Given the description of an element on the screen output the (x, y) to click on. 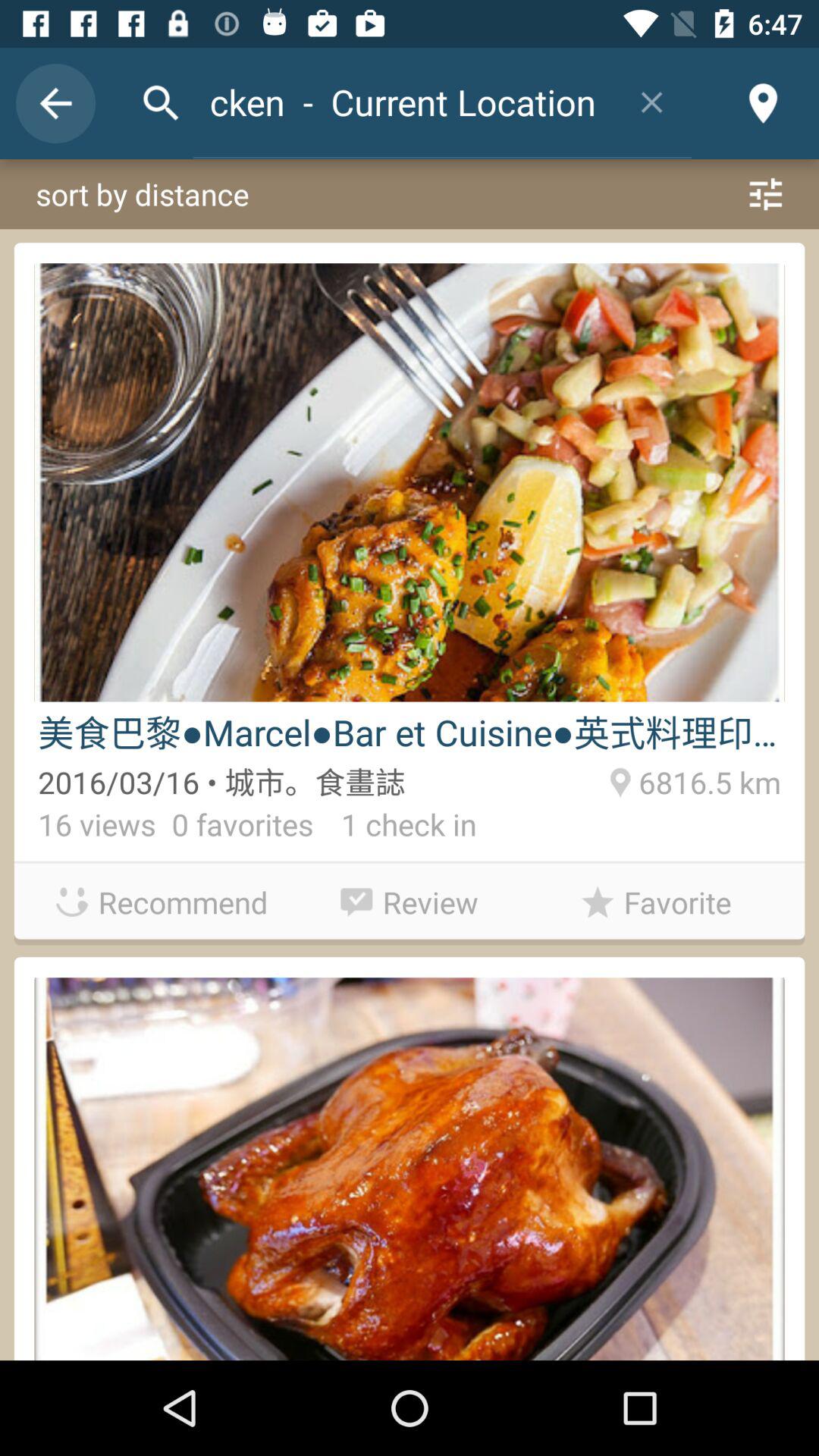
press the recommend icon (161, 902)
